Given the description of an element on the screen output the (x, y) to click on. 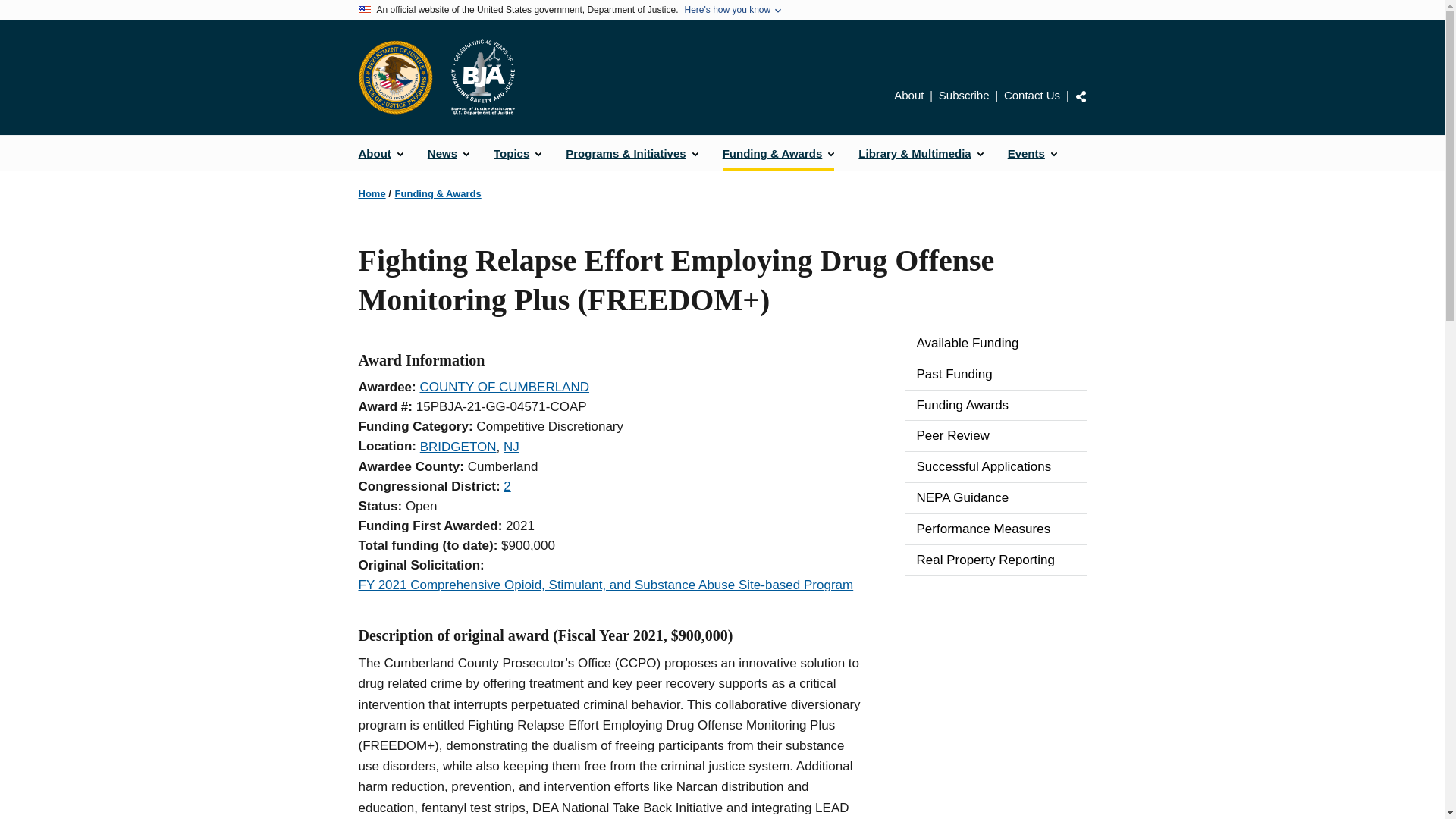
Subscribe (964, 94)
Choose a social sharing platform (1080, 96)
About (380, 153)
Events (1031, 153)
NEPA Guidance (995, 498)
Past Funding (995, 374)
Successful Applications (995, 467)
Home (481, 77)
Share (1080, 96)
